Given the description of an element on the screen output the (x, y) to click on. 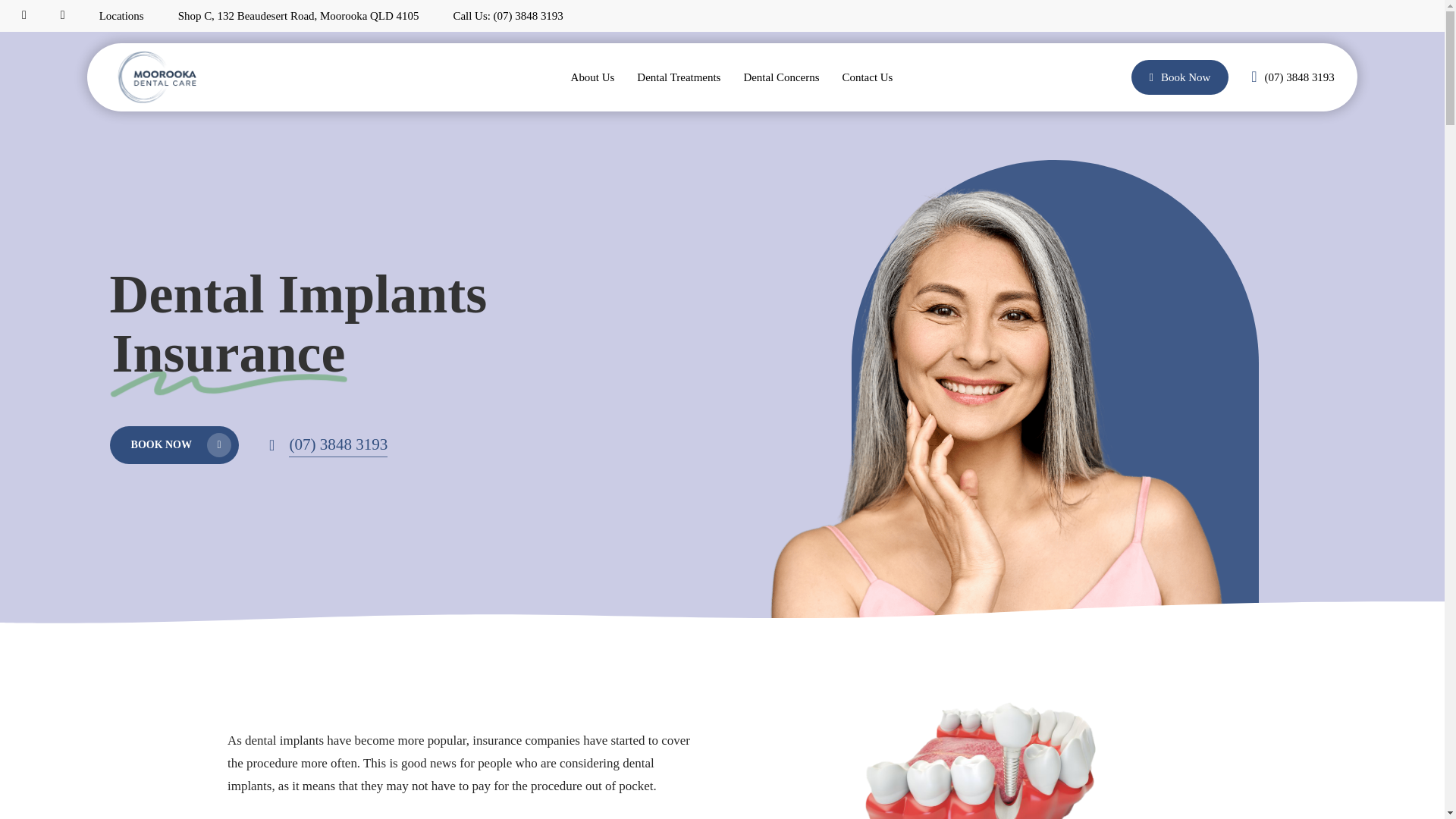
Locations (121, 16)
Dental Treatments (678, 76)
About Us (592, 76)
Shop C, 132 Beaudesert Road, Moorooka QLD 4105 (298, 16)
